Given the description of an element on the screen output the (x, y) to click on. 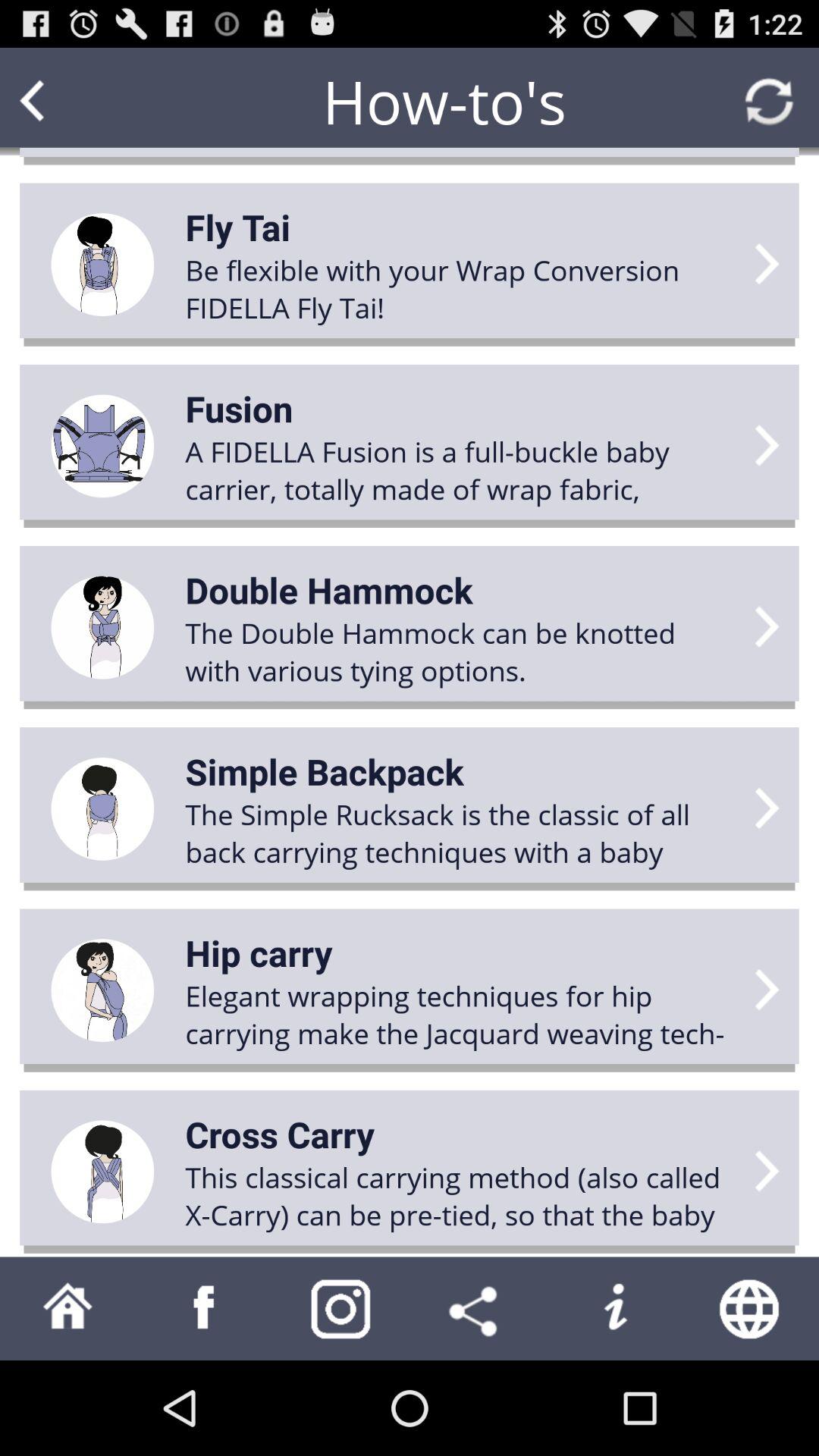
choose icon below the the simple rucksack app (258, 952)
